Given the description of an element on the screen output the (x, y) to click on. 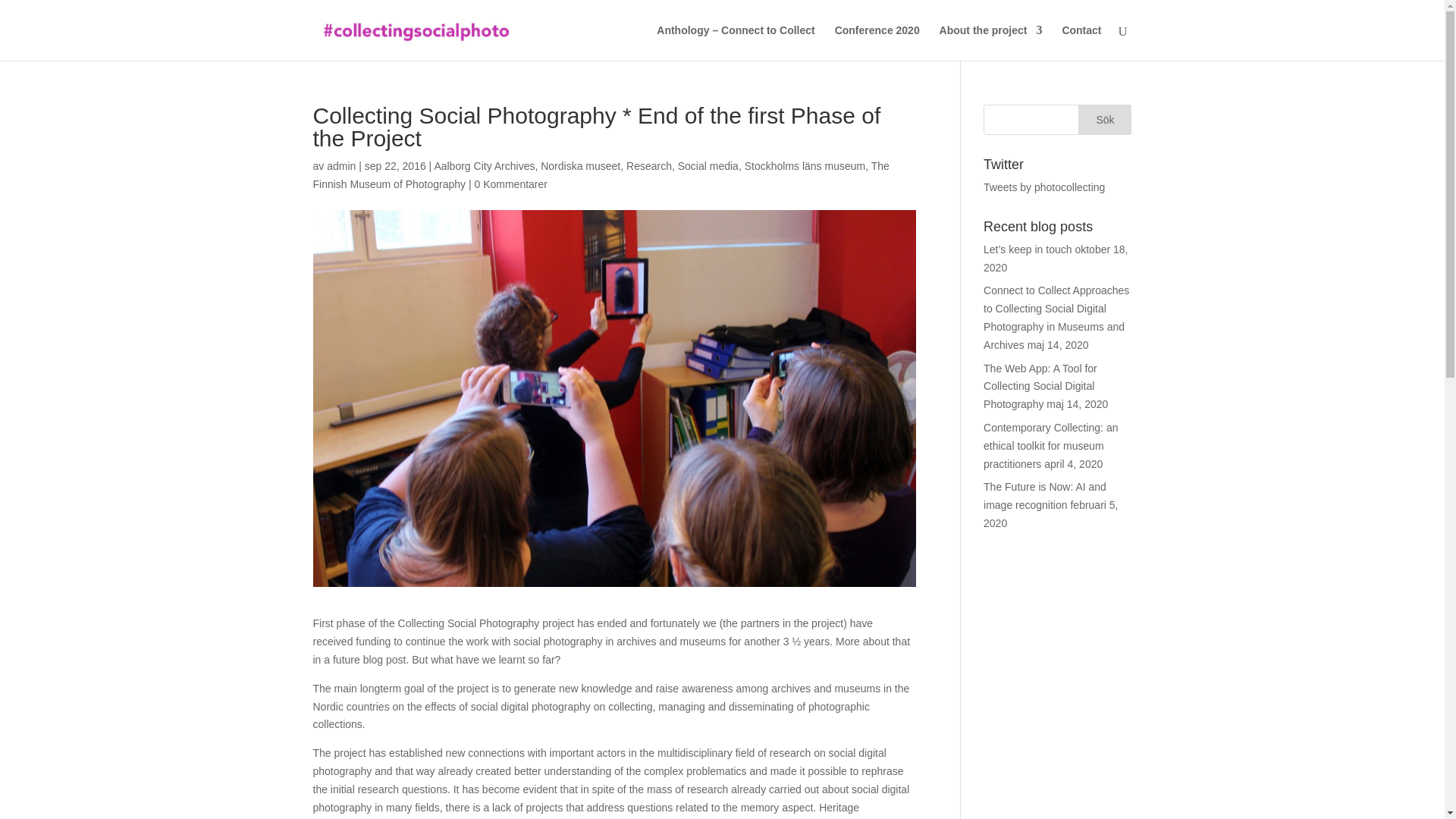
About the project (990, 42)
Nordiska museet (580, 165)
The Future is Now: AI and image recognition (1045, 495)
The Finnish Museum of Photography (600, 174)
admin (340, 165)
Conference 2020 (877, 42)
Tweets by photocollecting (1044, 186)
Research (648, 165)
Contact (1080, 42)
0 Kommentarer (510, 184)
Social media (708, 165)
Aalborg City Archives (483, 165)
